Given the description of an element on the screen output the (x, y) to click on. 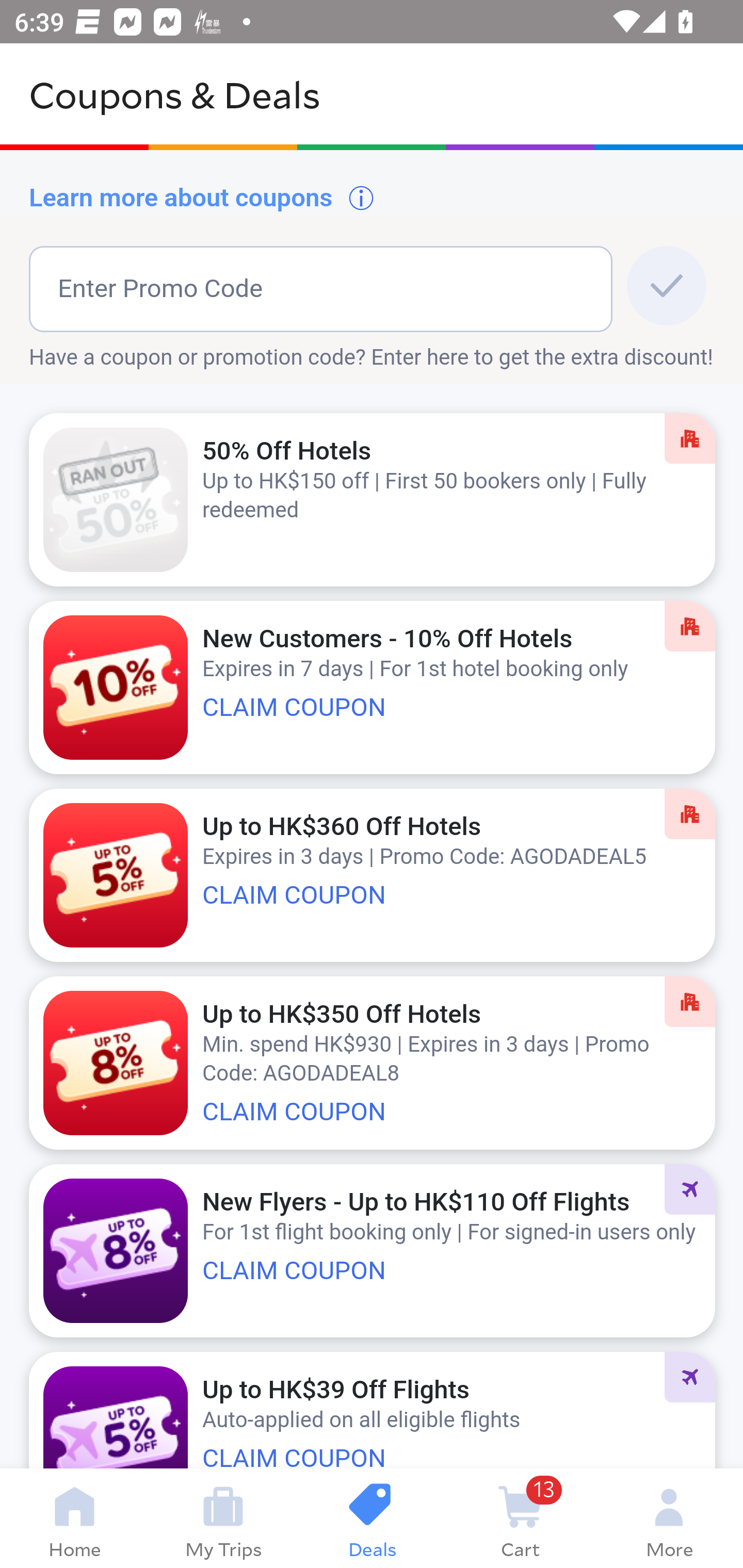
Home (74, 1518)
My Trips (222, 1518)
Deals (371, 1518)
13 Cart (519, 1518)
More (668, 1518)
